Given the description of an element on the screen output the (x, y) to click on. 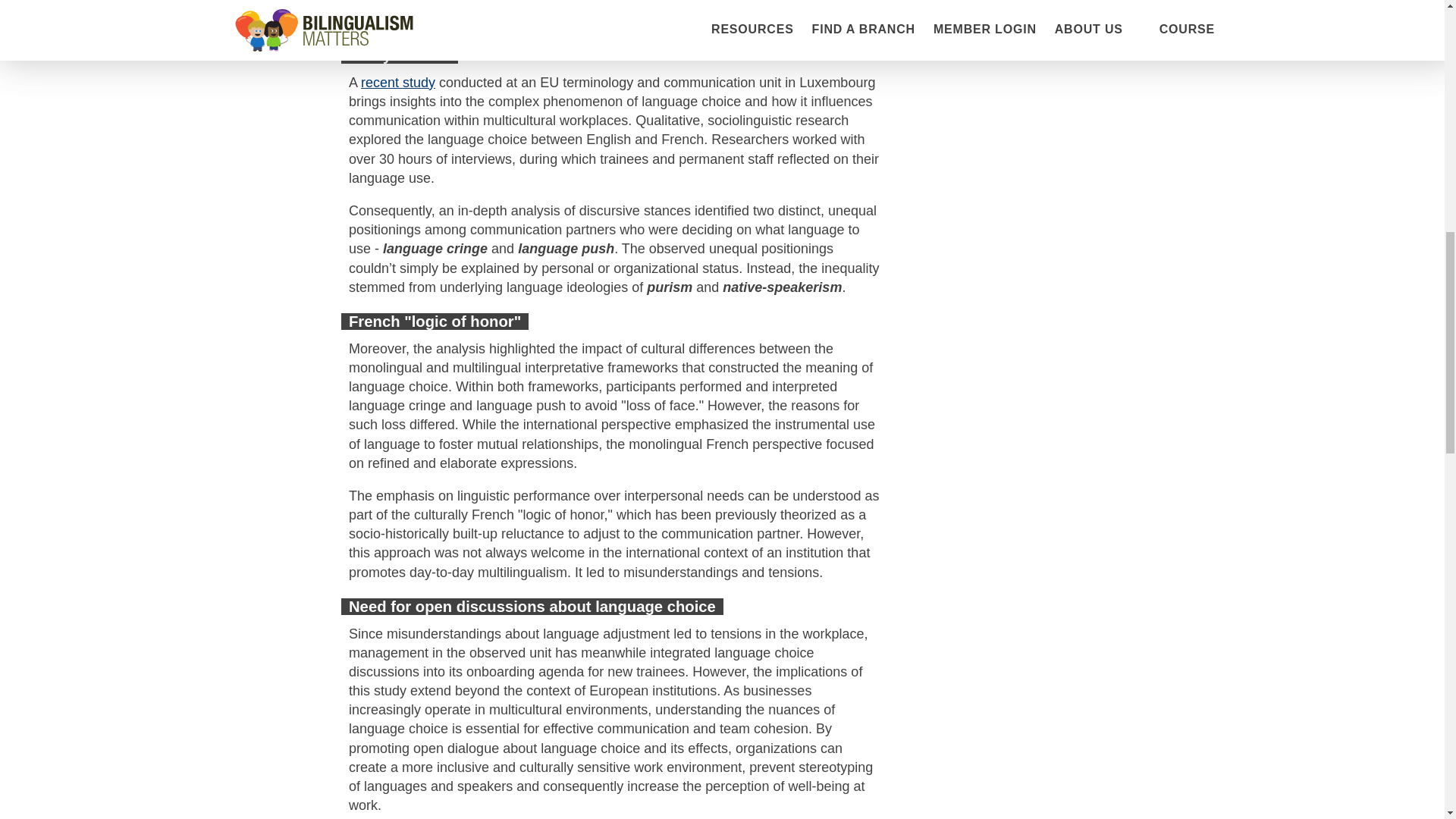
Veronika Lovrits (581, 4)
BM Luxembourg (687, 4)
recent study (398, 82)
